Given the description of an element on the screen output the (x, y) to click on. 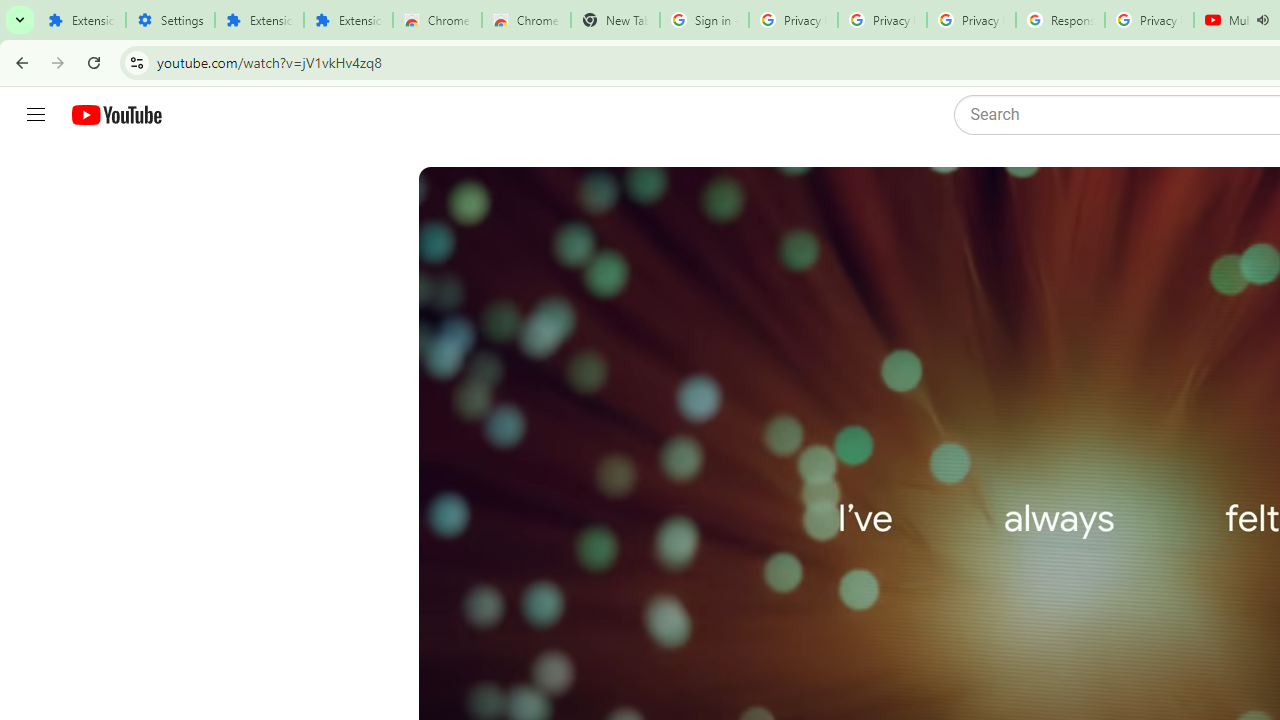
Guide (35, 115)
Chrome Web Store (437, 20)
Extensions (259, 20)
